Given the description of an element on the screen output the (x, y) to click on. 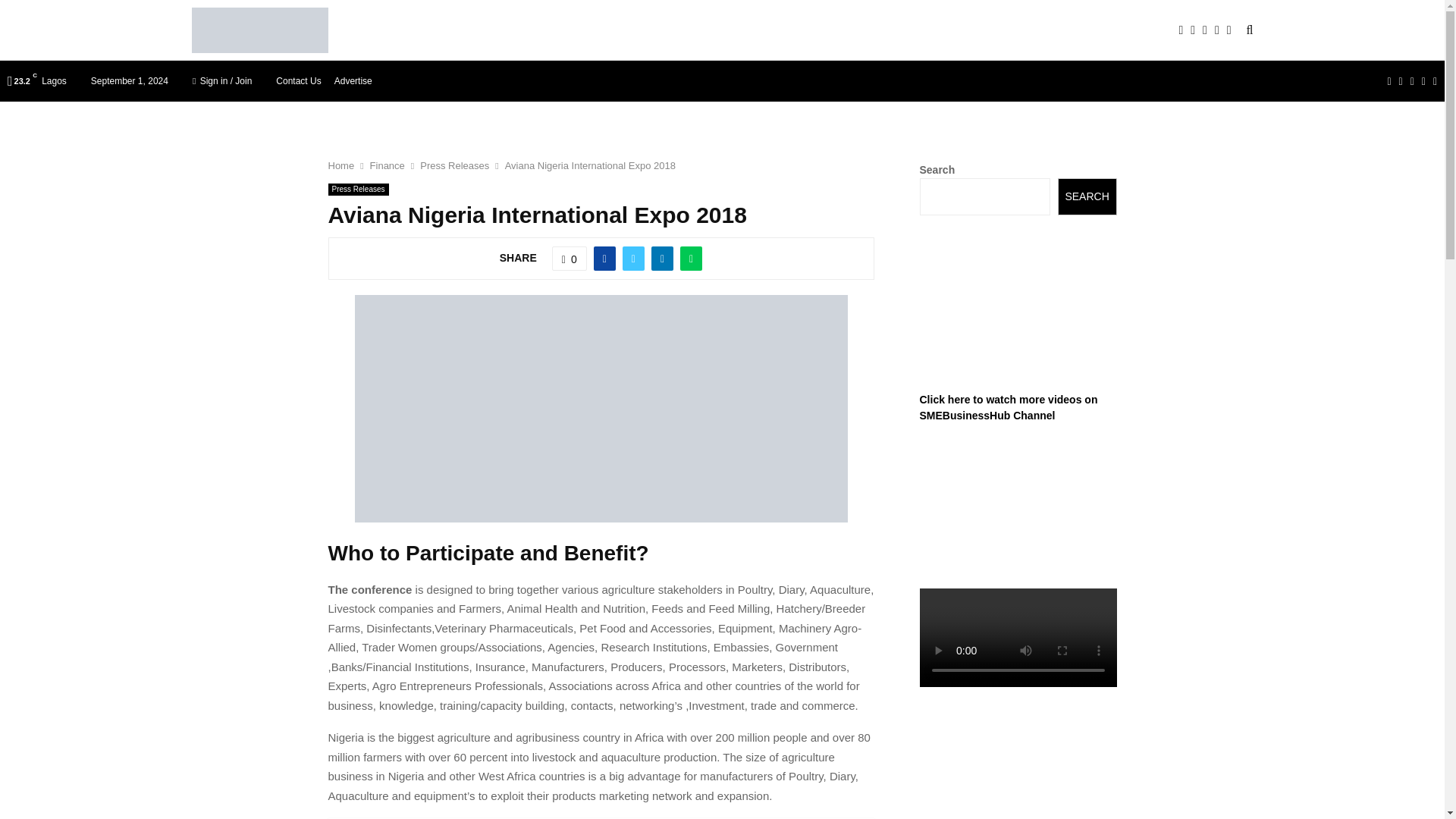
Sign up new account (722, 447)
Contact Us (298, 80)
Aviana Nigeria International Expo 2018 (590, 165)
Home (340, 165)
0 (568, 258)
Press Releases (454, 165)
Like (568, 258)
DIRECTORY (547, 30)
Login to your account (722, 328)
Press Releases (357, 189)
